Given the description of an element on the screen output the (x, y) to click on. 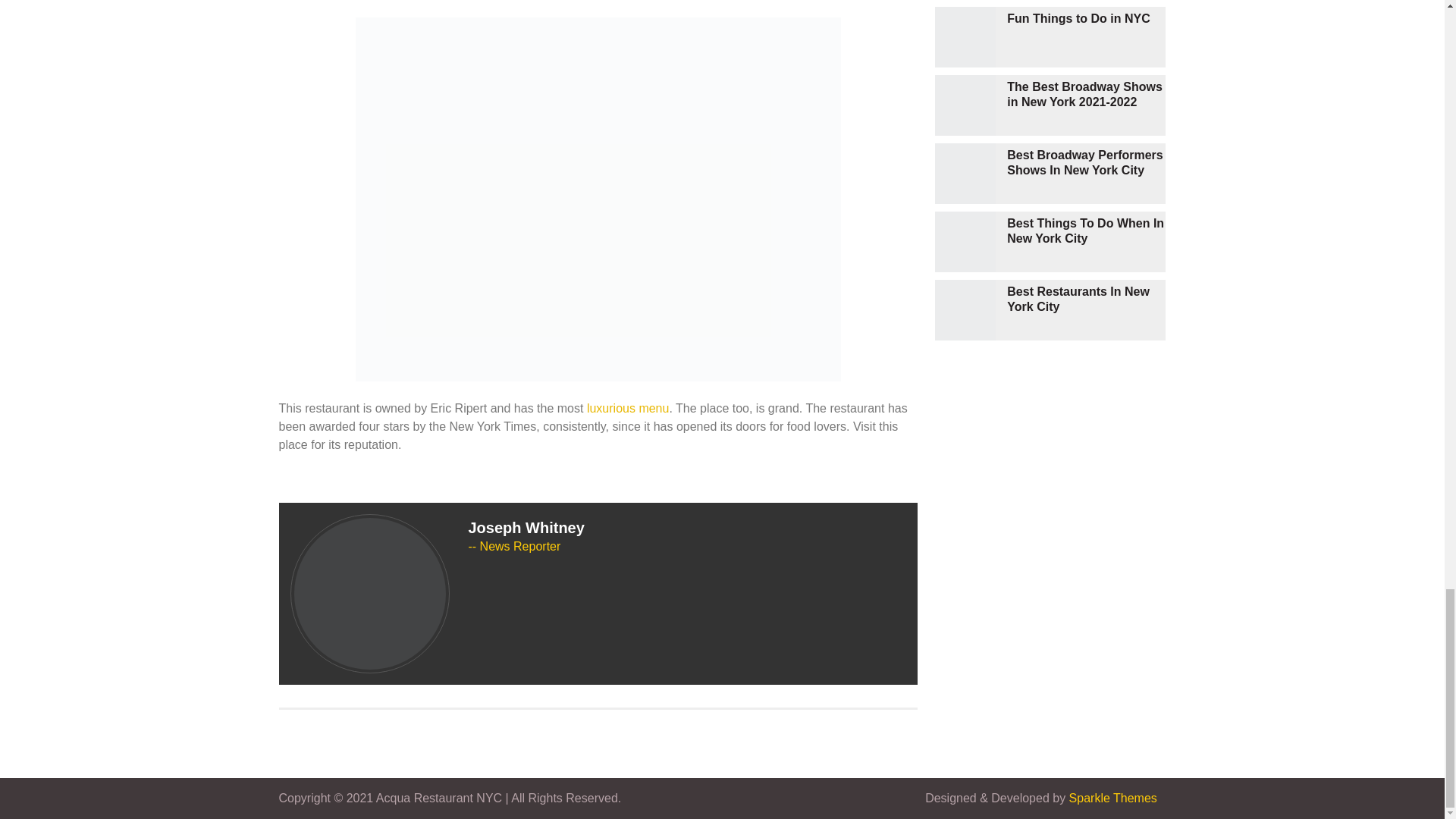
Posts by Joseph Whitney (526, 527)
Joseph Whitney (526, 527)
luxurious menu (627, 408)
